Given the description of an element on the screen output the (x, y) to click on. 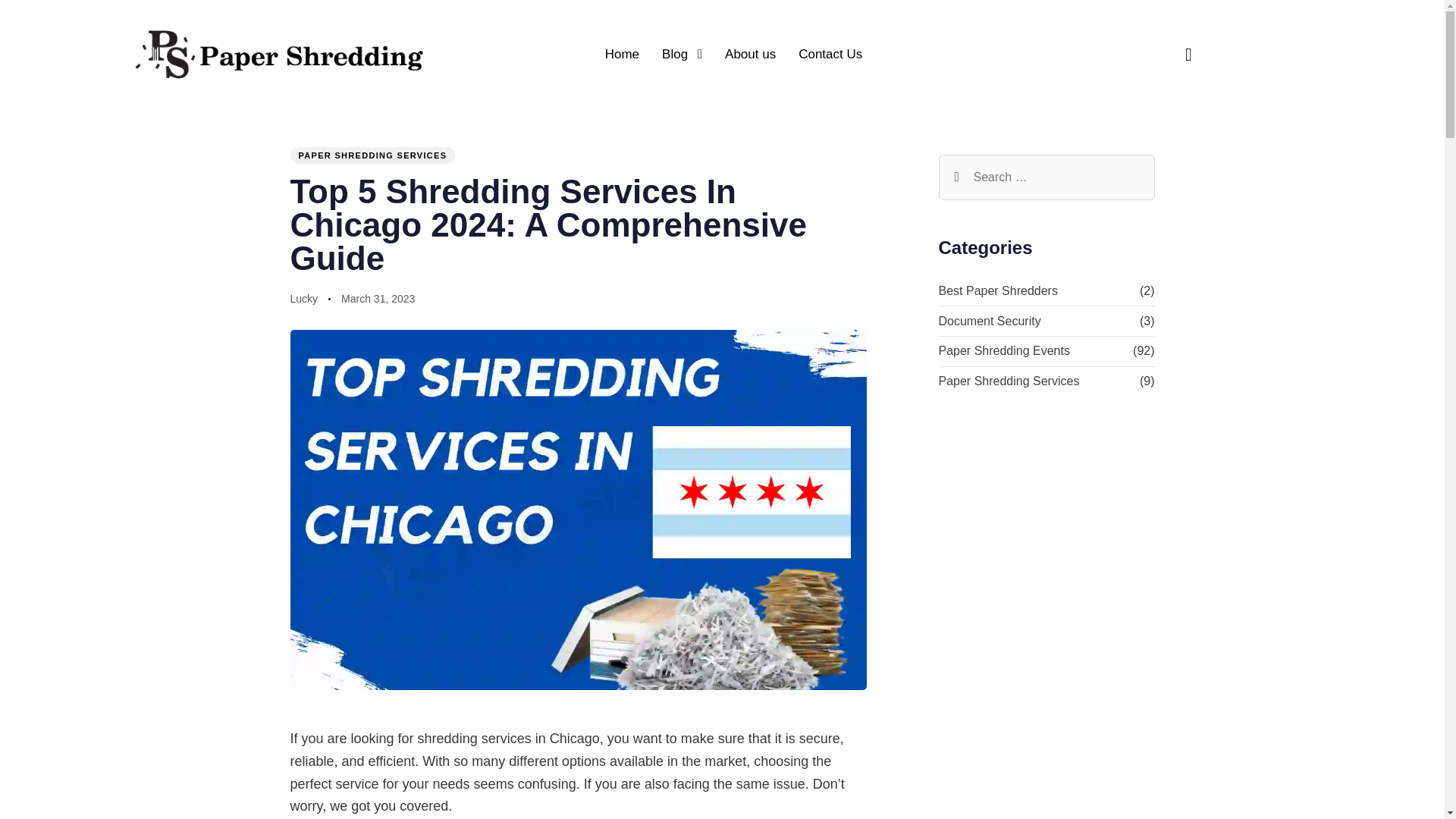
Contact Us (830, 54)
Posts by Lucky (303, 298)
About us (750, 54)
Lucky (303, 298)
Home (622, 54)
March 31, 2023 (377, 299)
Blog (681, 54)
PAPER SHREDDING SERVICES (371, 155)
